Given the description of an element on the screen output the (x, y) to click on. 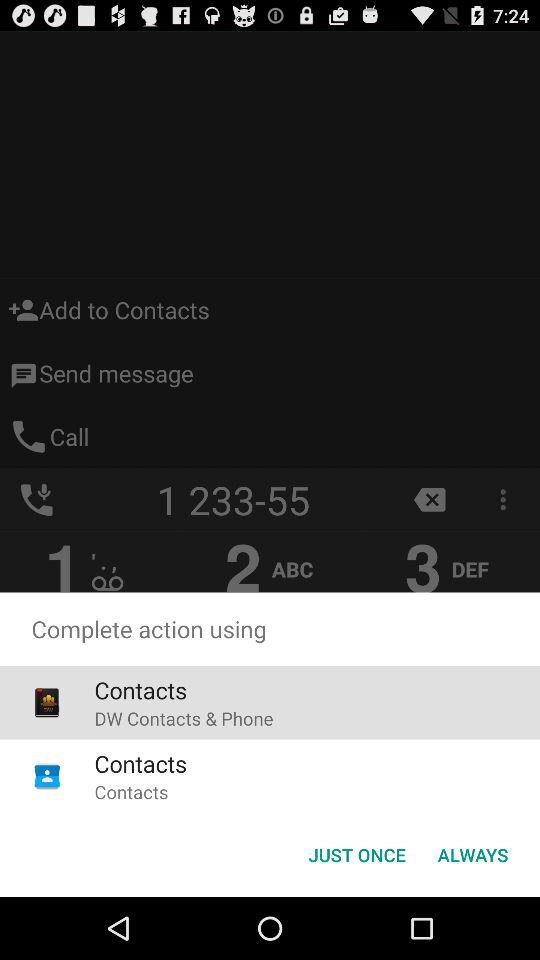
select the icon below complete action using item (472, 854)
